Given the description of an element on the screen output the (x, y) to click on. 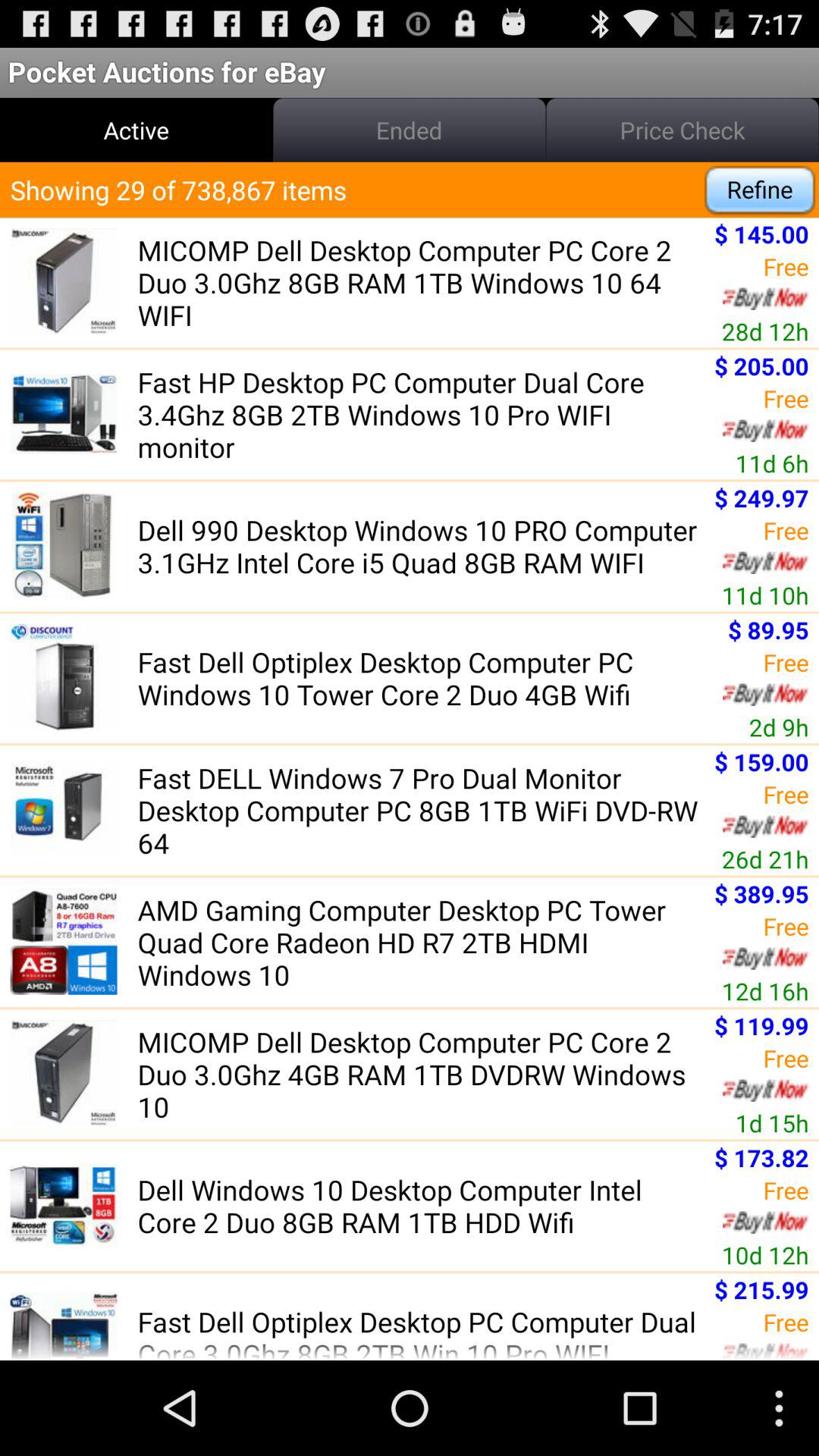
open app above the $ 249.97 (771, 463)
